Given the description of an element on the screen output the (x, y) to click on. 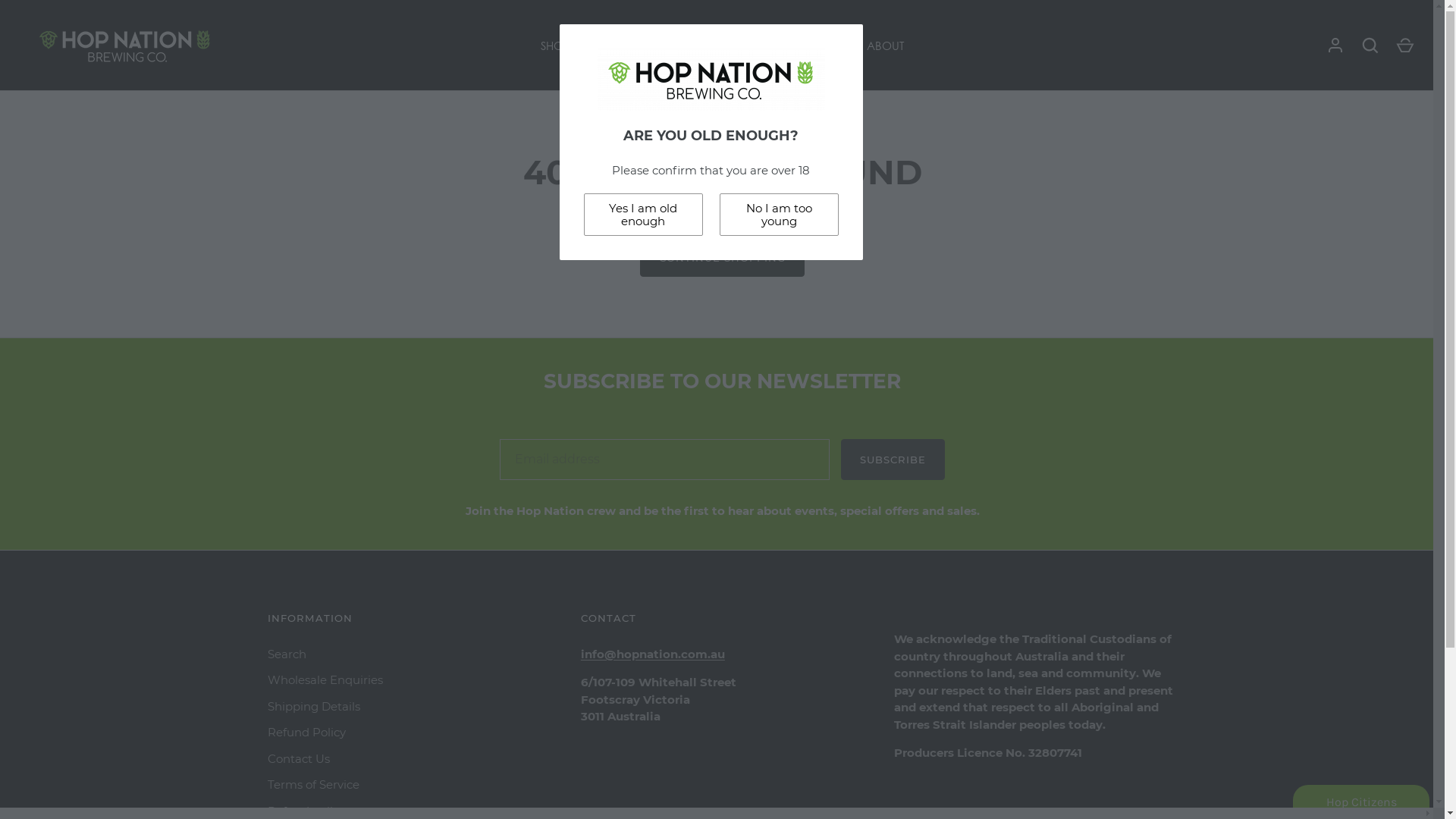
ABOUT Element type: text (884, 45)
SHOP THE REST Element type: text (652, 45)
SUBSCRIBE Element type: text (892, 458)
No I am too young Element type: text (777, 214)
Yes I am old enough Element type: text (642, 214)
Search Element type: text (285, 653)
info@hopnation.com.au Element type: text (652, 653)
SHOP BEER Element type: text (569, 45)
Wholesale Enquiries Element type: text (324, 679)
CONTINUE SHOPPING Element type: text (722, 257)
Refund Policy Element type: text (305, 731)
Terms of Service Element type: text (312, 784)
Contact Us Element type: text (297, 758)
Shipping Details Element type: text (312, 706)
Refund policy Element type: text (305, 810)
TAPROOM Element type: text (735, 45)
HOP CITIZENS Element type: text (814, 45)
